Given the description of an element on the screen output the (x, y) to click on. 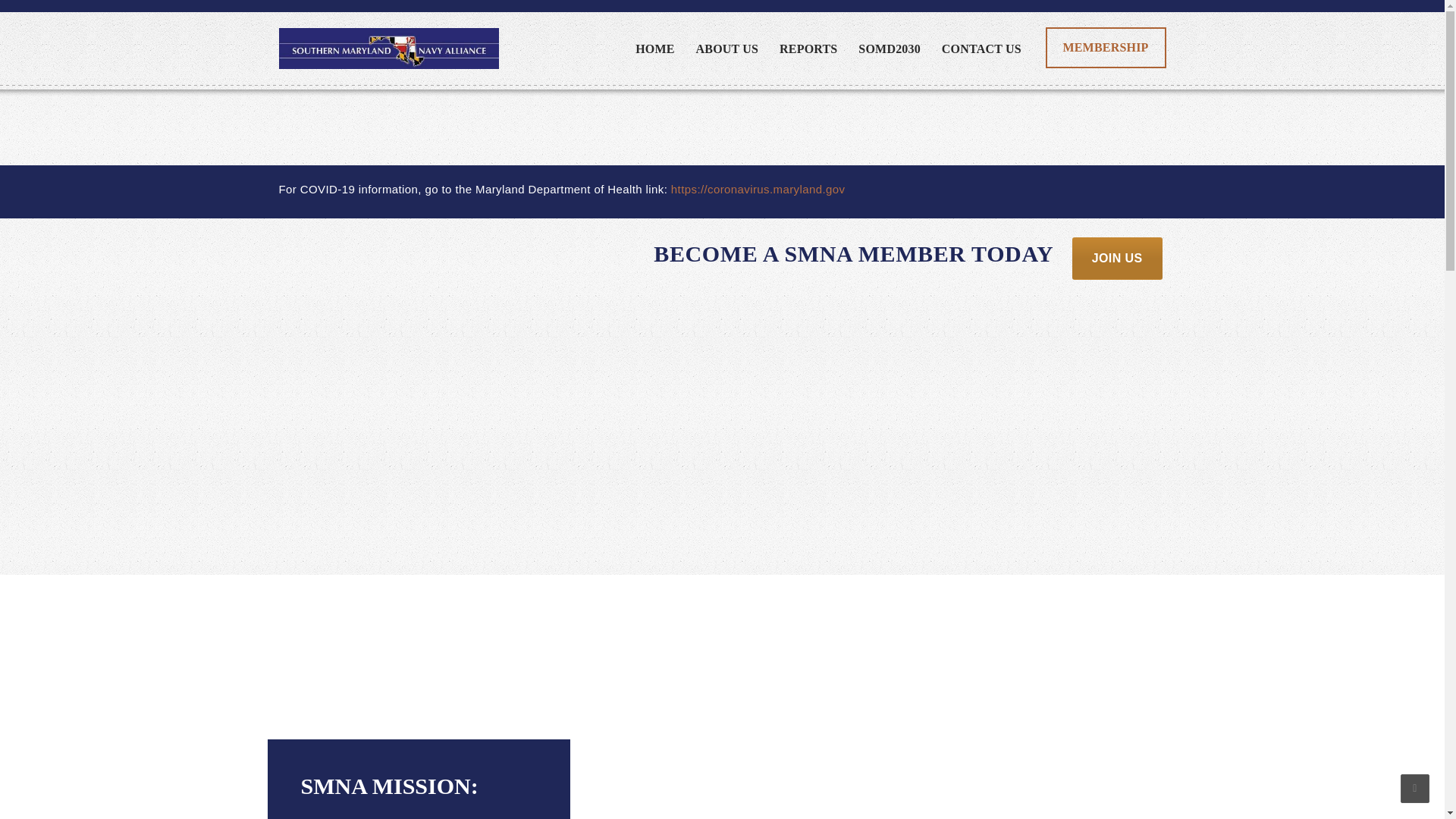
CONTACT US (981, 49)
MEMBERSHIP (1105, 47)
ABOUT US (727, 49)
SOMD2030 (890, 49)
REPORTS (807, 49)
JOIN US (1116, 258)
Southern Maryland Navy Alliance (389, 47)
